Given the description of an element on the screen output the (x, y) to click on. 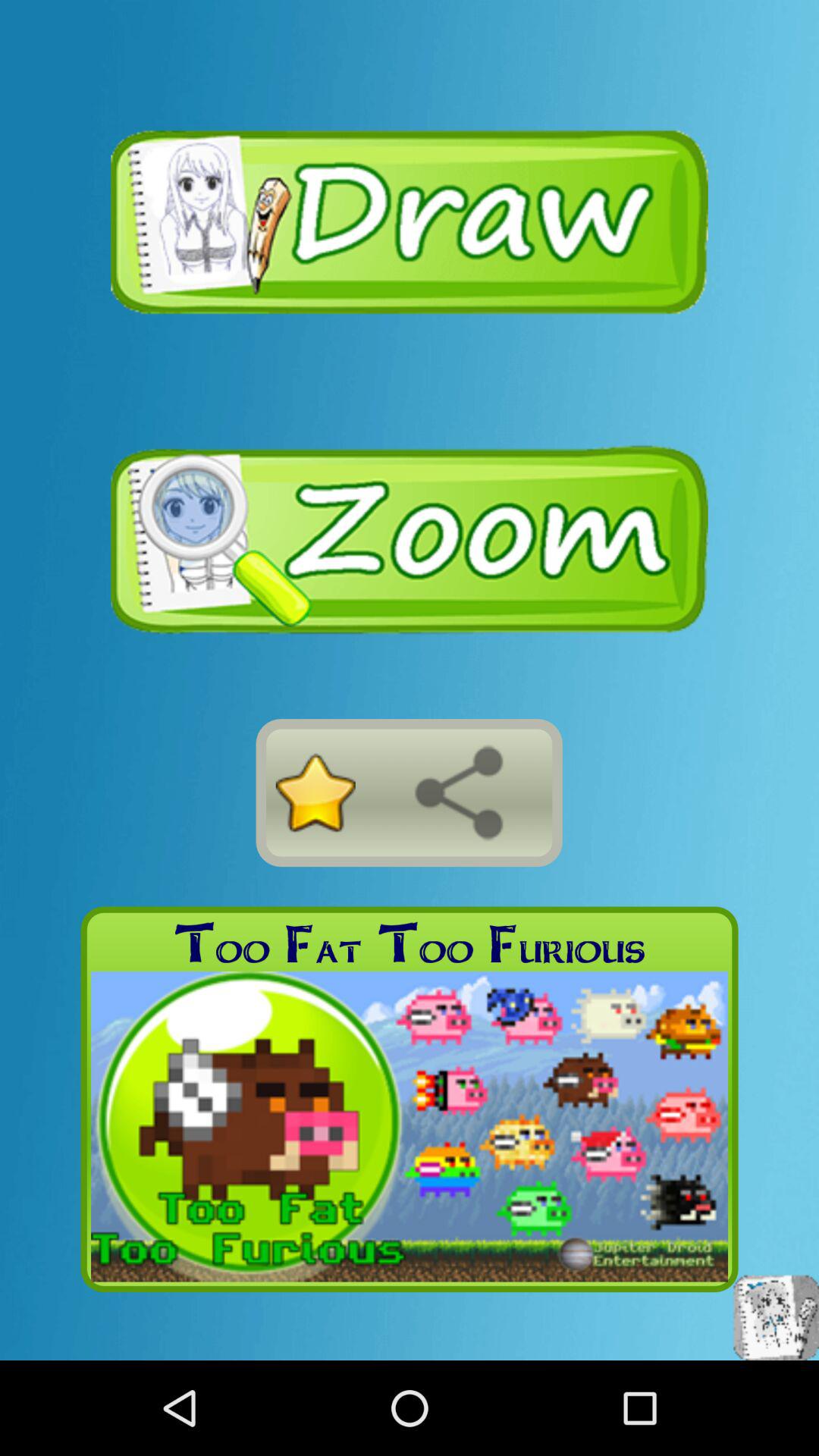
turn on item at the top (409, 220)
